Given the description of an element on the screen output the (x, y) to click on. 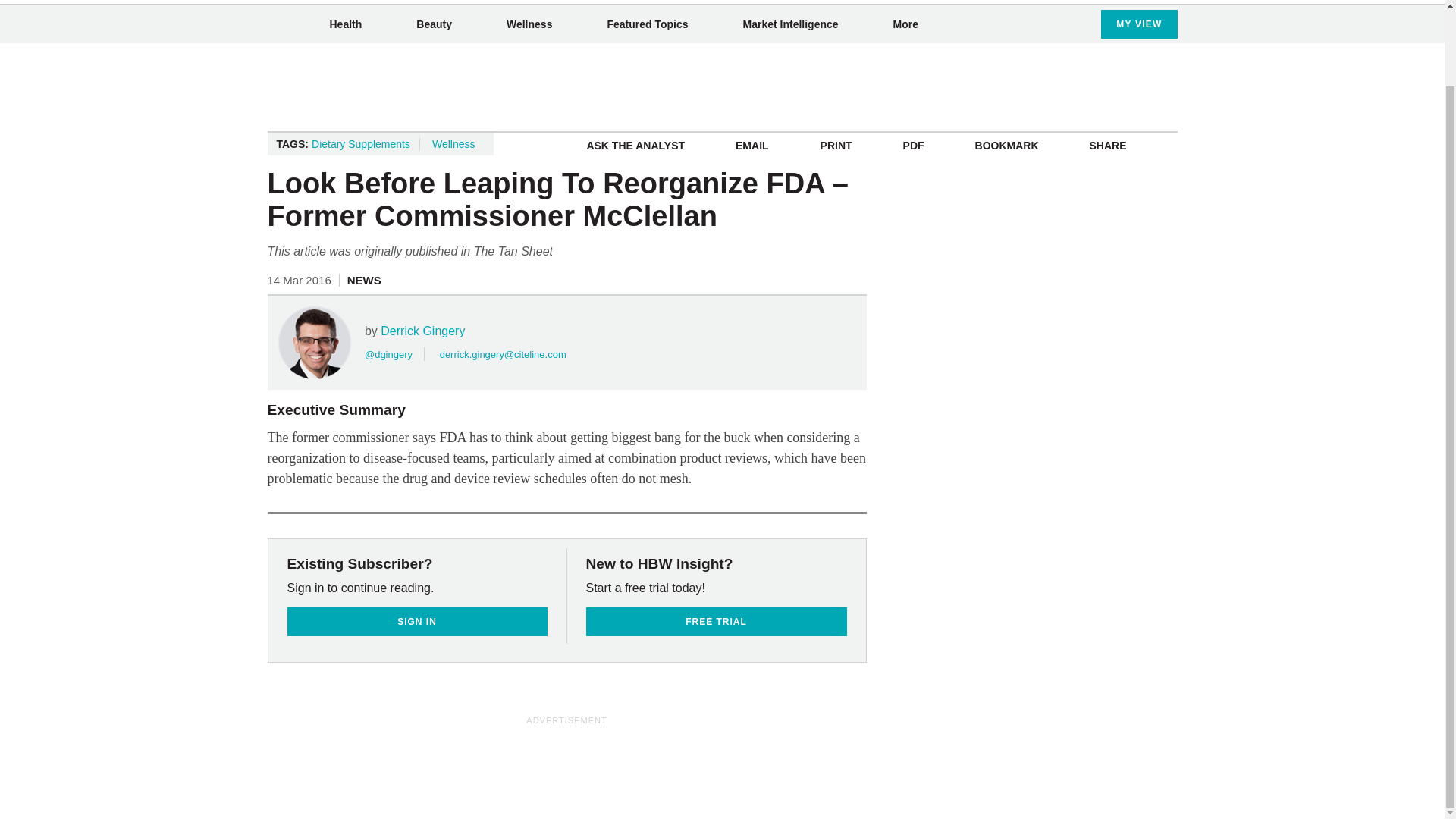
Wellness (528, 24)
Health (345, 24)
3rd party ad content (722, 87)
Market Intelligence (790, 24)
3rd party ad content (567, 762)
Beauty (433, 24)
